Given the description of an element on the screen output the (x, y) to click on. 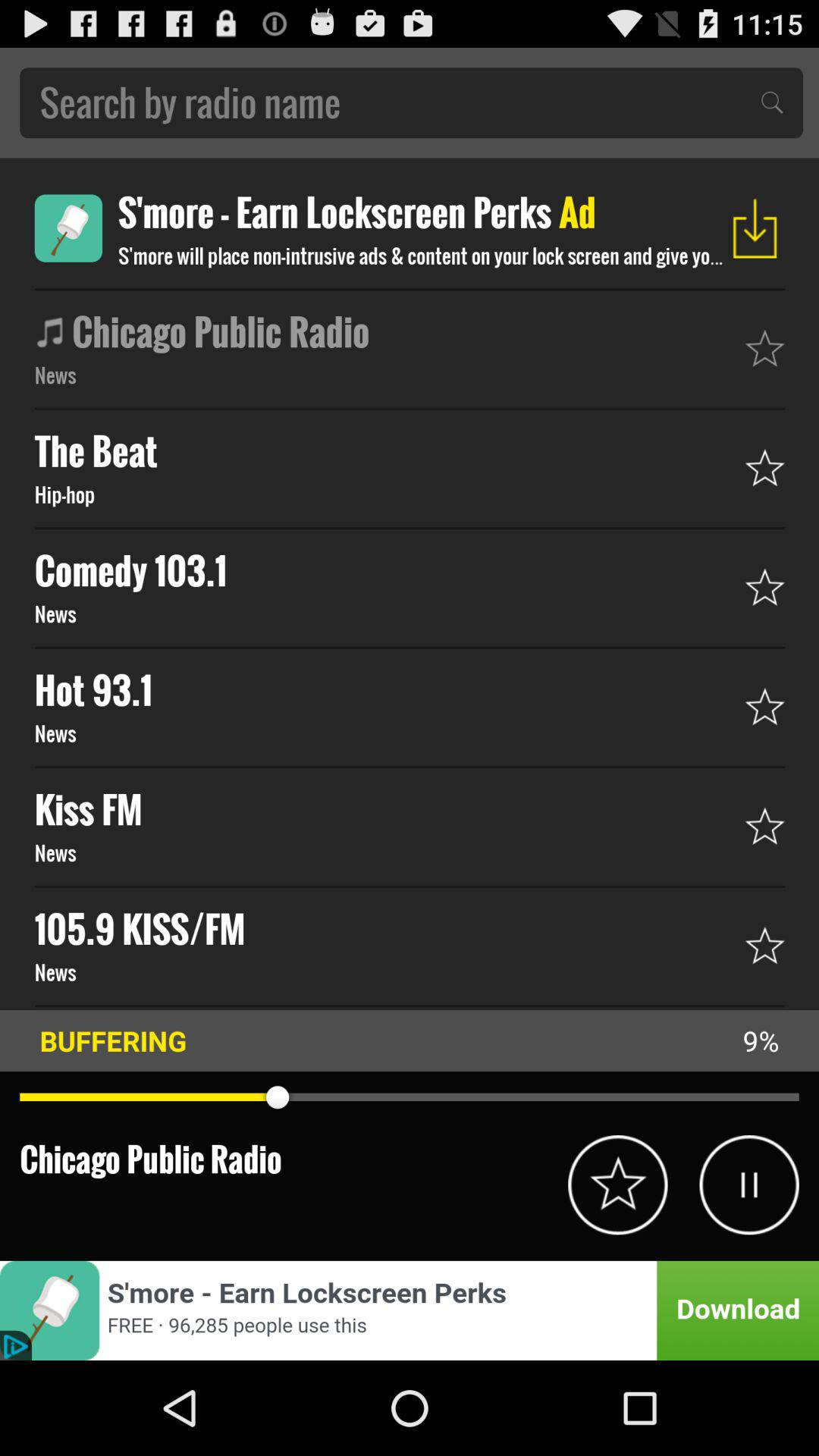
open advertisement (68, 228)
